Given the description of an element on the screen output the (x, y) to click on. 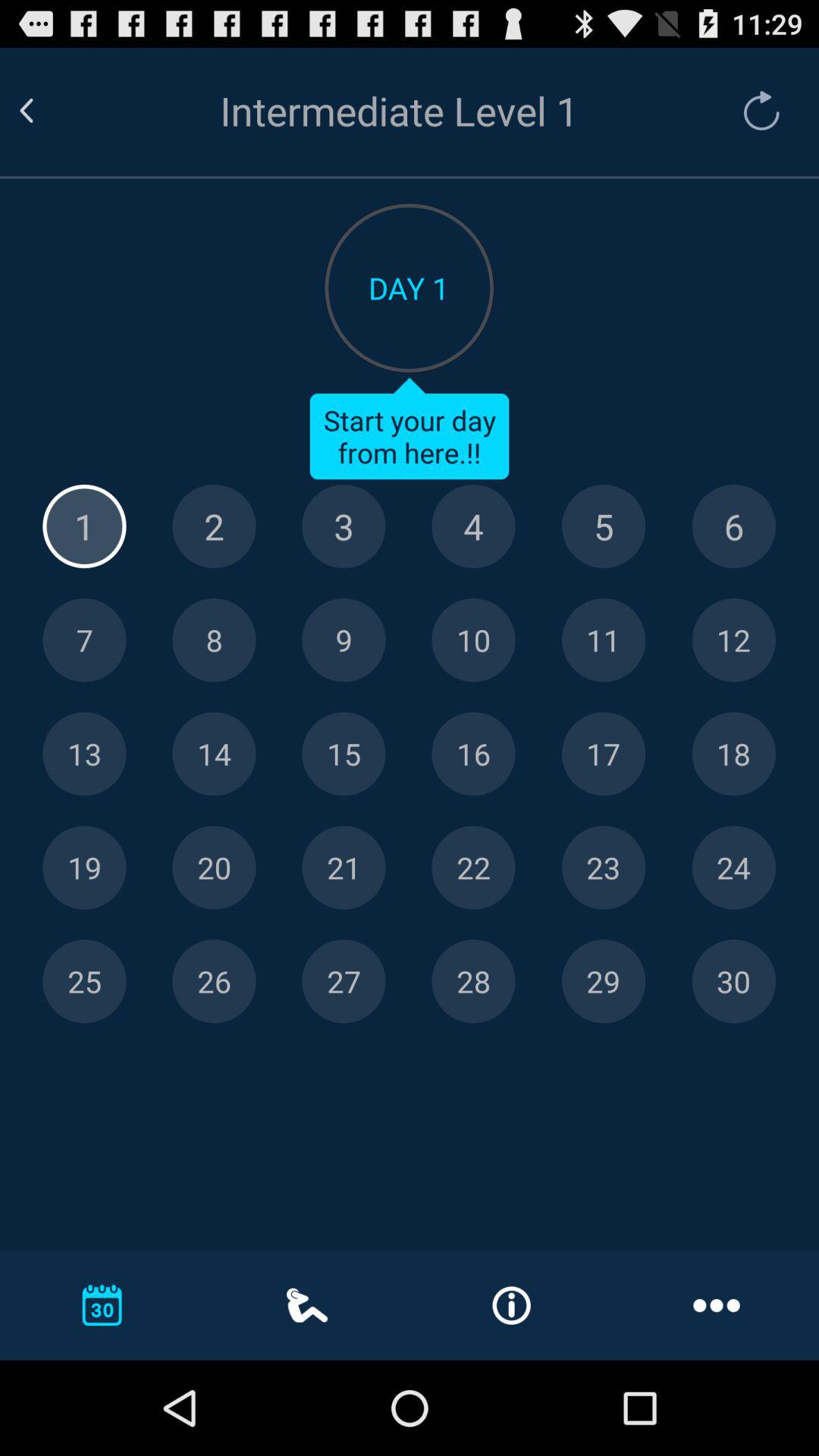
refresh (754, 110)
